Given the description of an element on the screen output the (x, y) to click on. 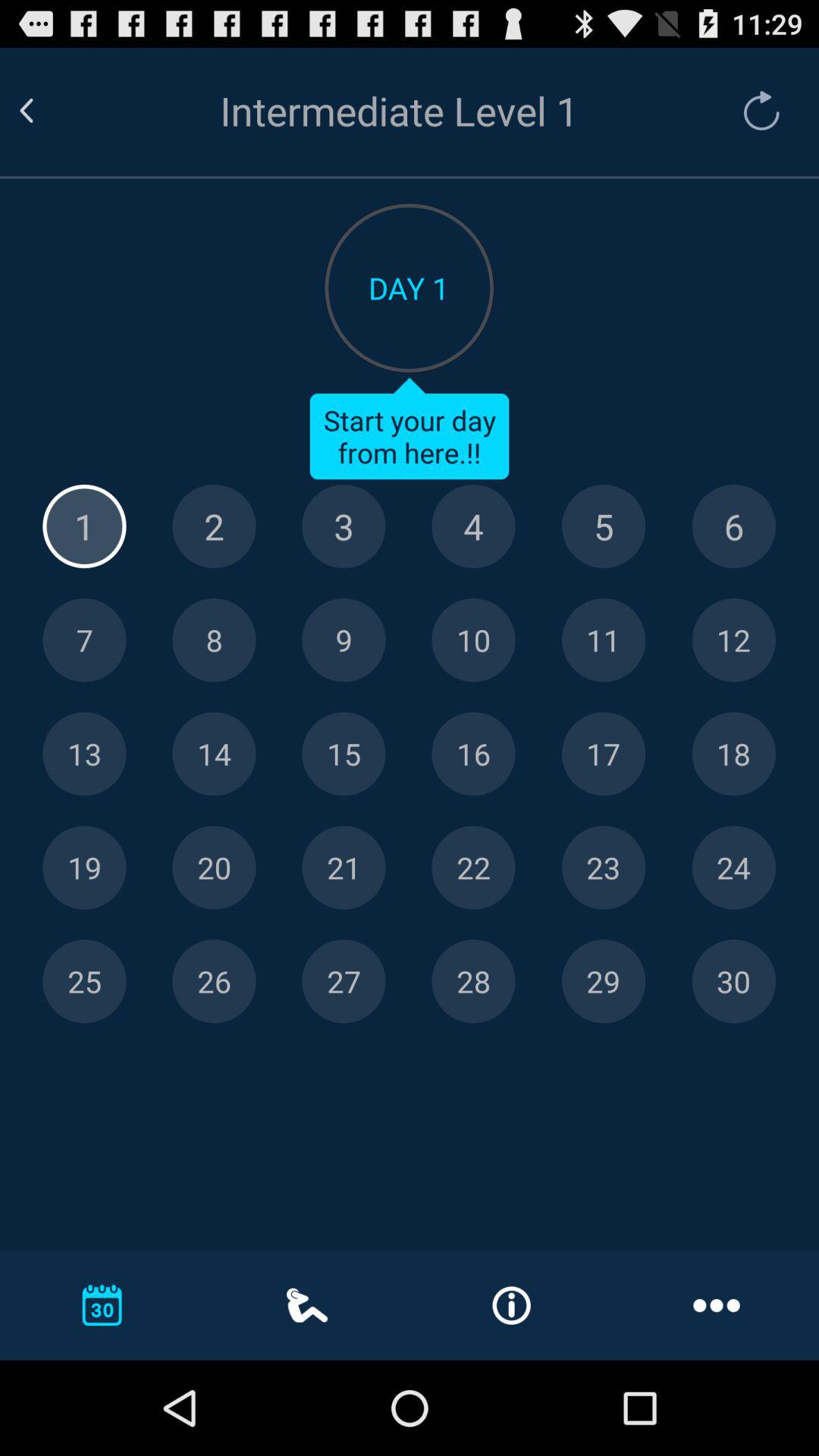
refresh (754, 110)
